Given the description of an element on the screen output the (x, y) to click on. 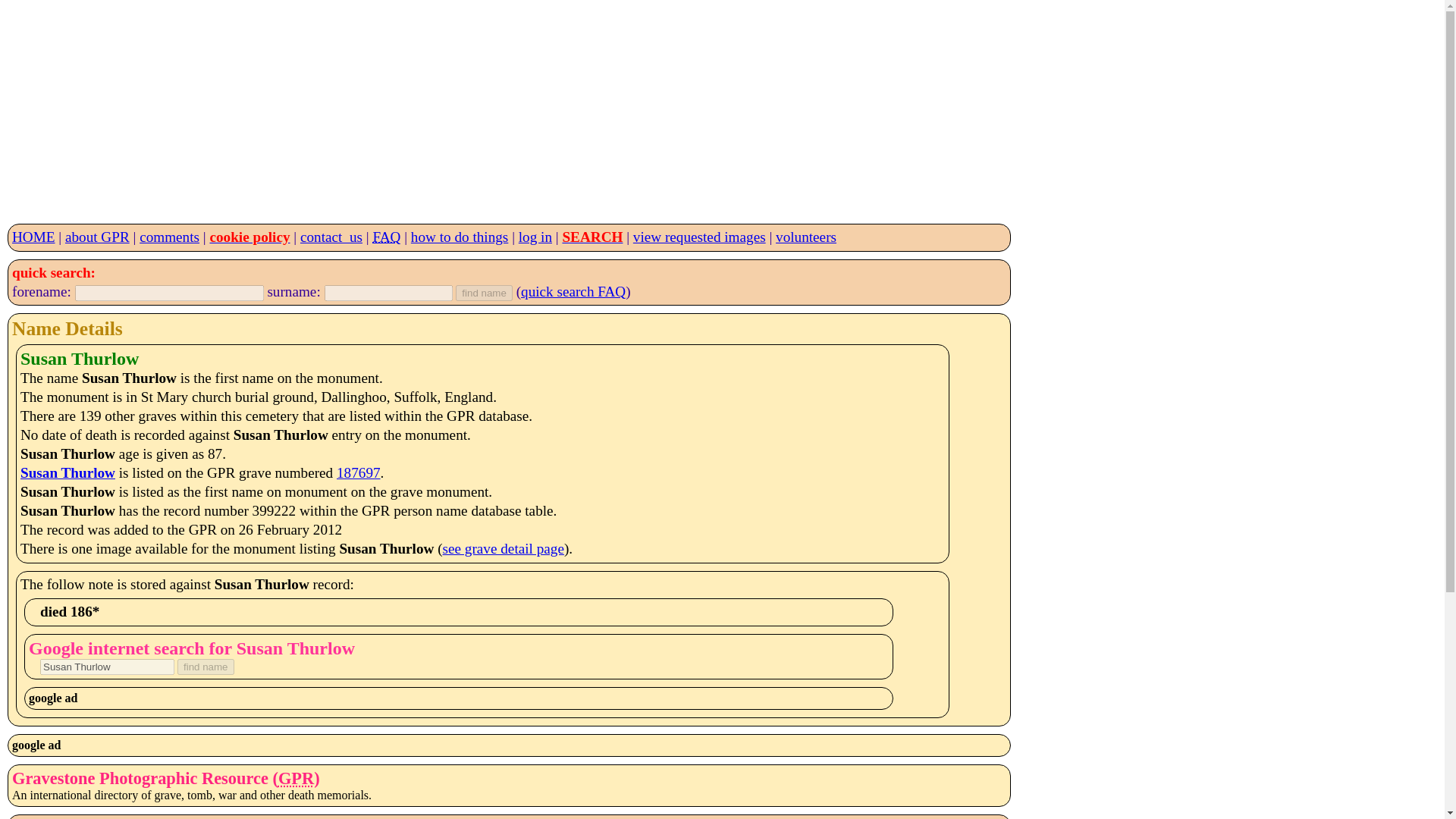
Gravestone Photographic Resource (296, 778)
how to do things (459, 236)
see grave detail page (503, 548)
Frequently Asked Questions (386, 236)
Susan Thurlow (67, 472)
about GPR (97, 236)
cookie policy (249, 236)
SEARCH (592, 236)
volunteers (805, 236)
find name (483, 293)
187697 (358, 472)
HOME (33, 236)
find name (205, 666)
log in (534, 236)
FAQ (386, 236)
